Given the description of an element on the screen output the (x, y) to click on. 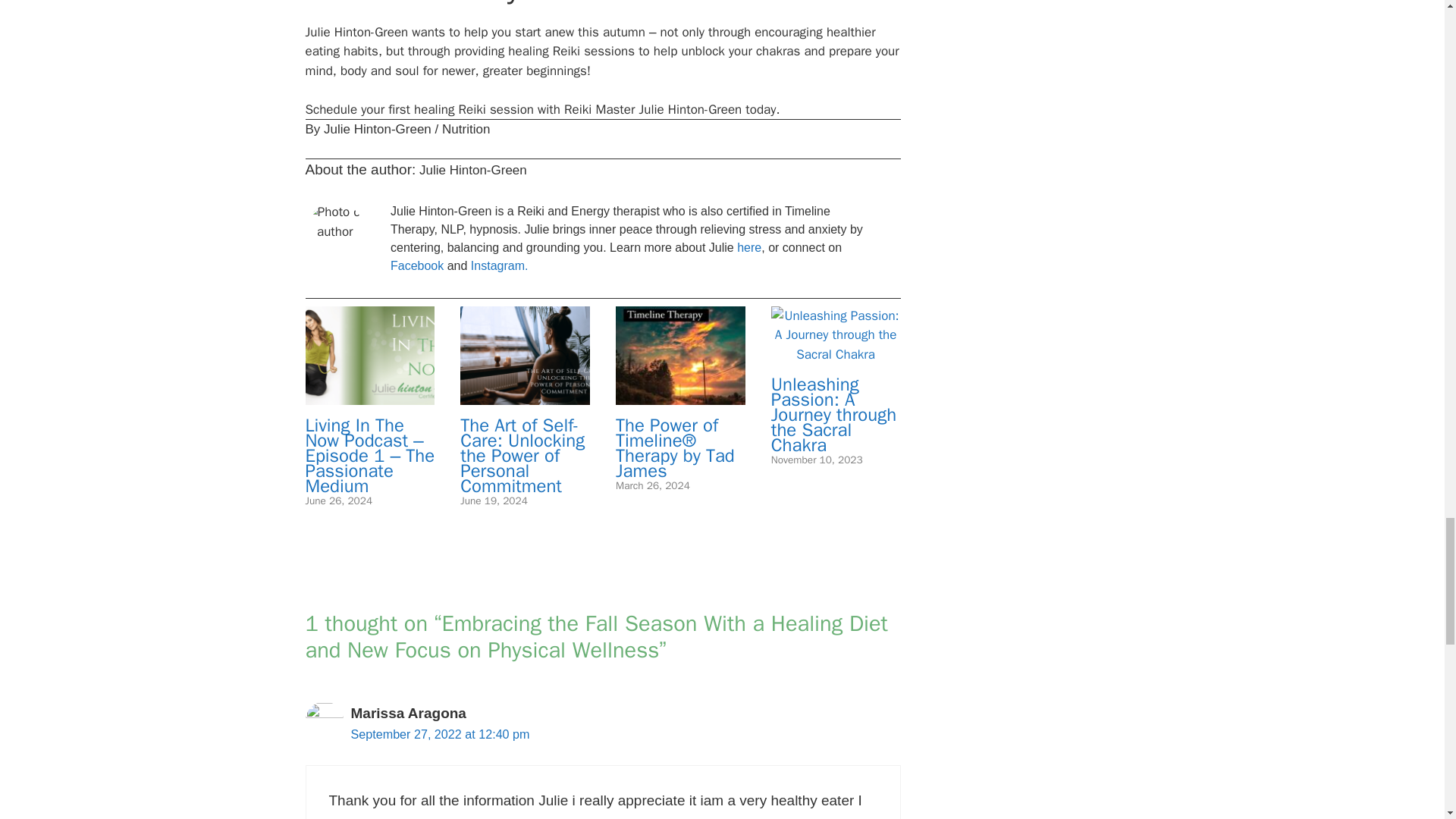
12:06 pm (493, 500)
here (748, 246)
Unleashing Passion: A Journey through the Sacral Chakra (833, 414)
4:25 am (817, 459)
Instagram. (499, 265)
March 26, 2024 (652, 485)
Unleashing Passion: A Journey through the Sacral Chakra (836, 354)
5:41 pm (652, 485)
June 26, 2024 (338, 500)
Facebook (417, 265)
June 19, 2024 (493, 500)
7:51 pm (338, 500)
